Given the description of an element on the screen output the (x, y) to click on. 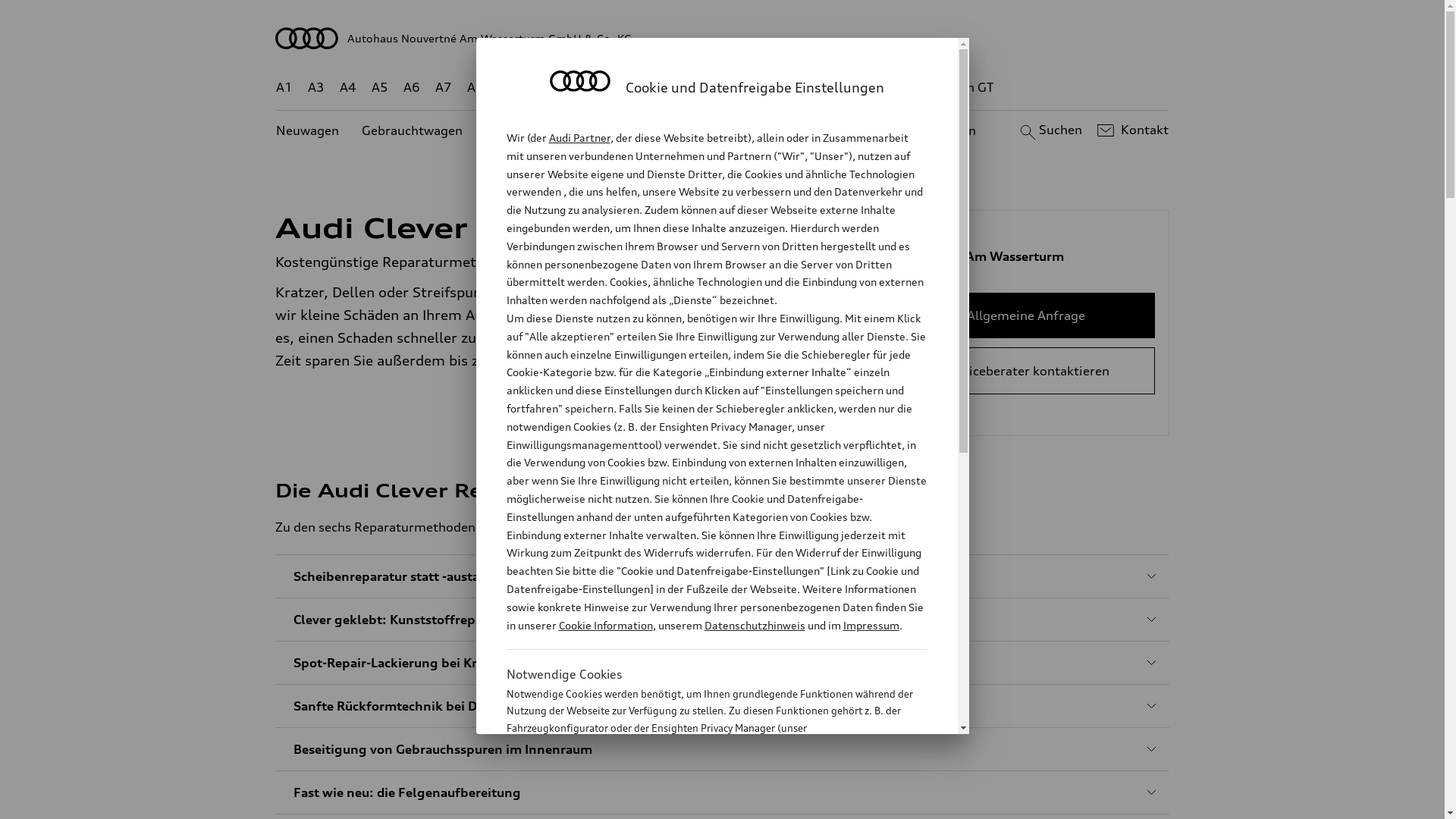
A4 Element type: text (347, 87)
Q4 e-tron Element type: text (592, 87)
Allgemeine Anfrage Element type: text (1025, 315)
Q8 Element type: text (710, 87)
Angebote Element type: text (636, 130)
Serviceberater kontaktieren Element type: text (1025, 370)
TT Element type: text (814, 87)
Q3 Element type: text (540, 87)
A1 Element type: text (284, 87)
Audi Partner Element type: text (579, 137)
Impressum Element type: text (871, 624)
A8 Element type: text (475, 87)
Kontakt Element type: text (1130, 130)
A6 Element type: text (411, 87)
Gebrauchtwagen Element type: text (411, 130)
Q8 e-tron Element type: text (763, 87)
e-tron GT Element type: text (965, 87)
Kundenservice Element type: text (730, 130)
A3 Element type: text (315, 87)
Q5 Element type: text (645, 87)
g-tron Element type: text (903, 87)
RS Element type: text (861, 87)
Cookie Information Element type: text (700, 802)
A7 Element type: text (443, 87)
Datenschutzhinweis Element type: text (753, 624)
Q7 Element type: text (678, 87)
Cookie Information Element type: text (605, 624)
Q2 Element type: text (507, 87)
Neuwagen Element type: text (307, 130)
A5 Element type: text (379, 87)
Suchen Element type: text (1049, 130)
